Given the description of an element on the screen output the (x, y) to click on. 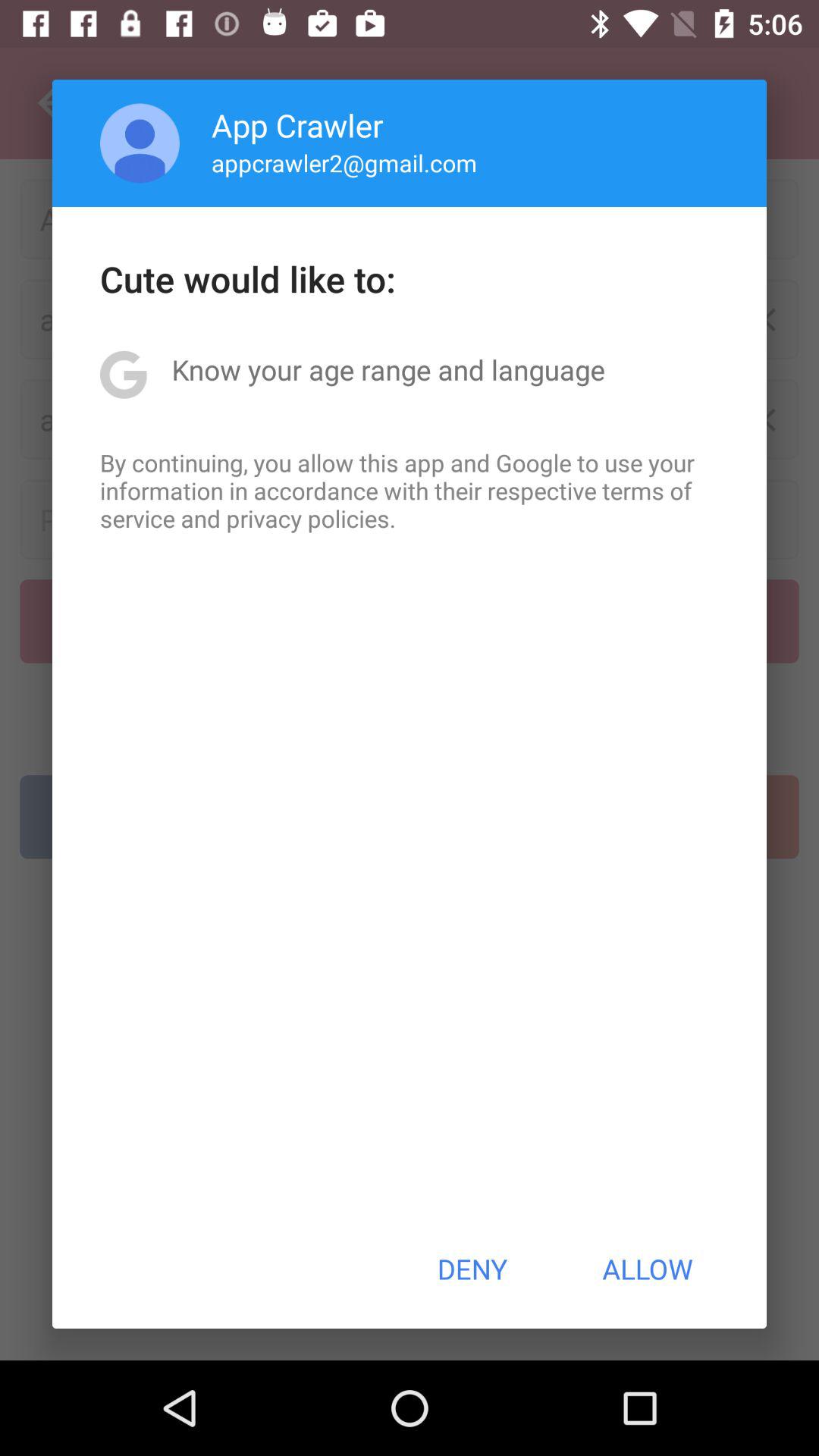
open the item next to allow (471, 1268)
